Given the description of an element on the screen output the (x, y) to click on. 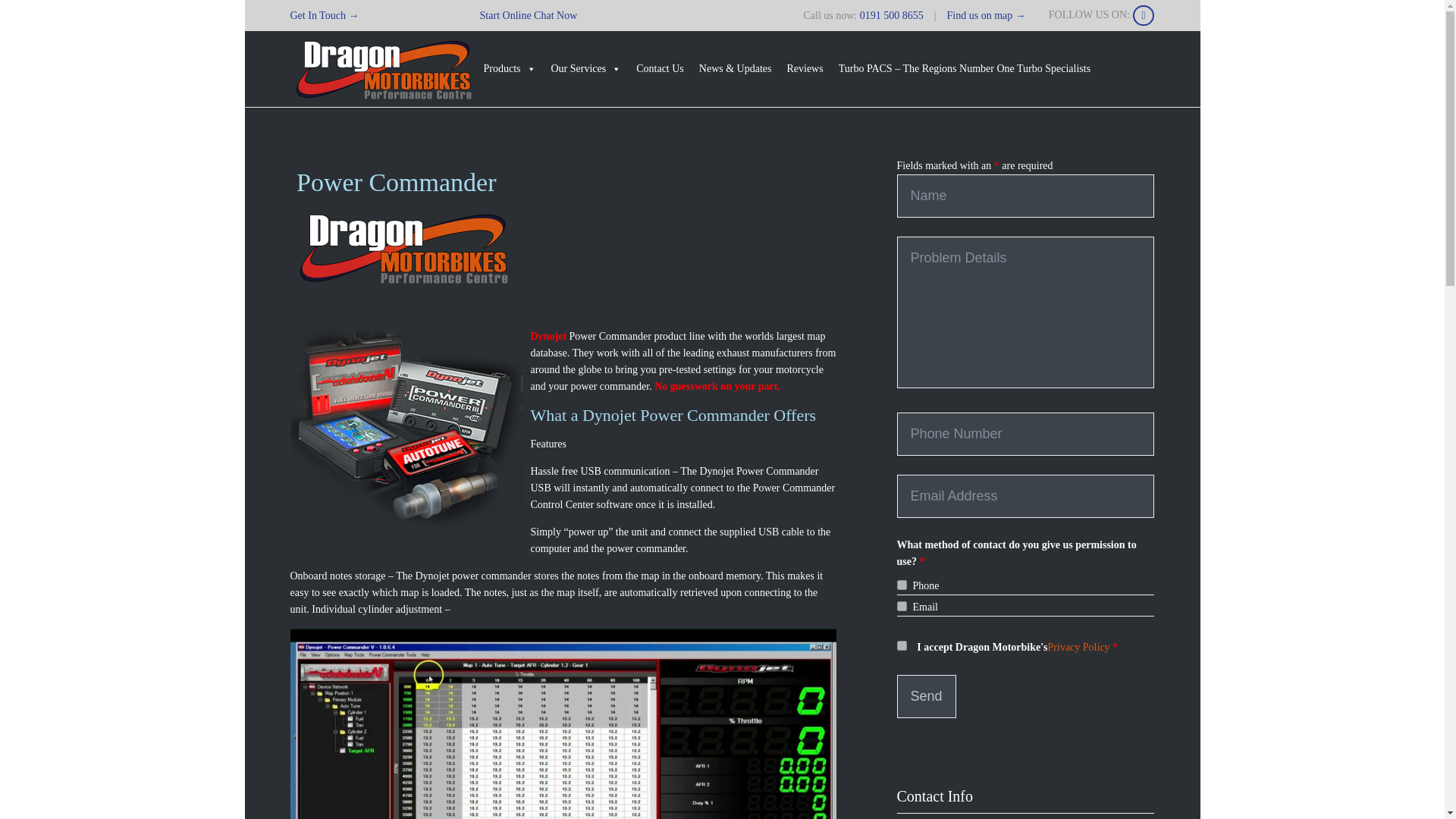
Send (925, 696)
email (900, 605)
0191 500 8655 (891, 15)
1 (900, 645)
Start Online Chat Now (529, 15)
phone (900, 584)
Products (509, 69)
